Given the description of an element on the screen output the (x, y) to click on. 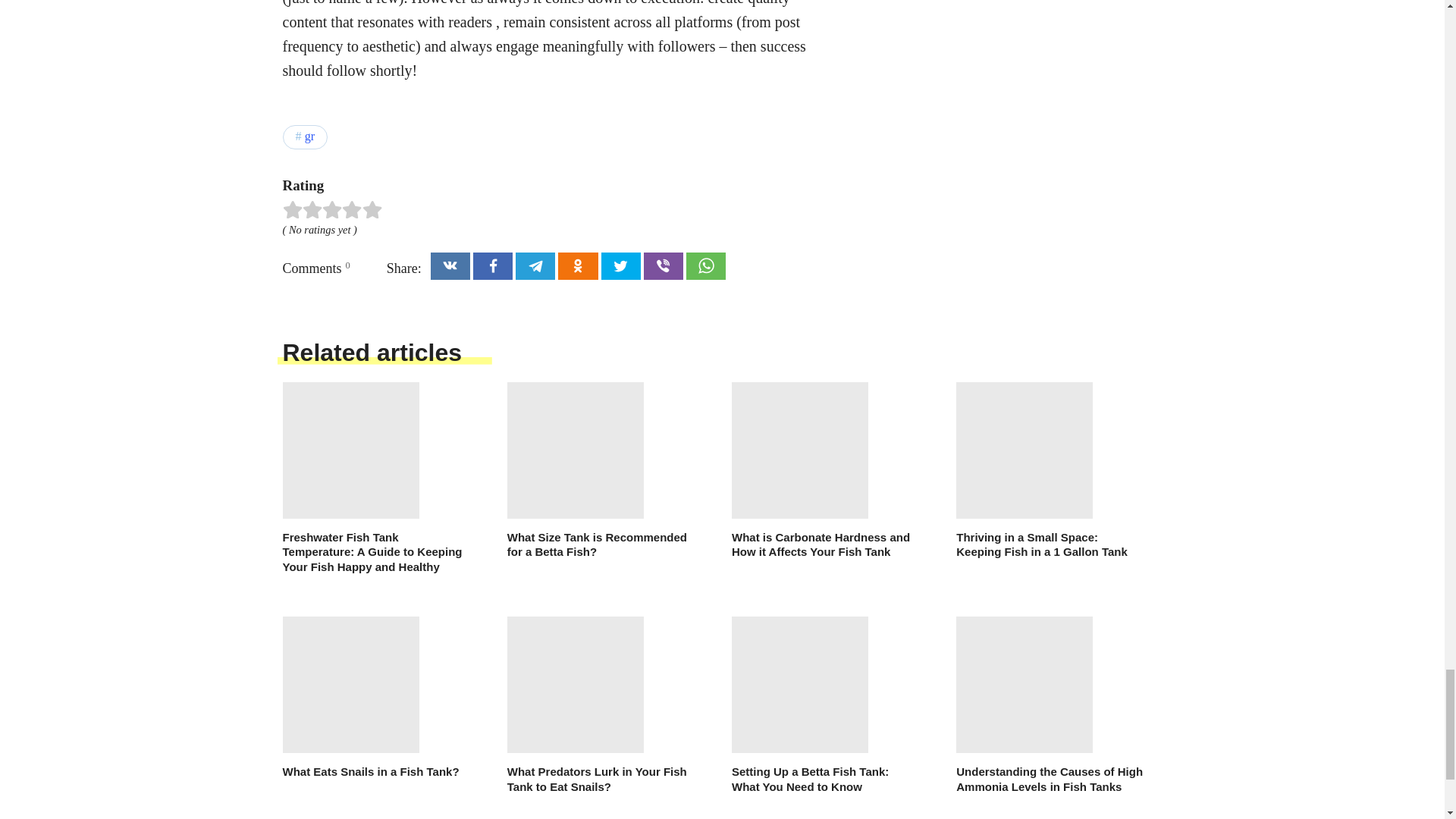
What Size Tank is Recommended for a Betta Fish? (600, 470)
What is Carbonate Hardness and How it Affects Your Fish Tank (825, 470)
Thriving in a Small Space: Keeping Fish in a 1 Gallon Tank (1049, 470)
What Eats Snails in a Fish Tank? (375, 697)
Setting Up a Betta Fish Tank: What You Need to Know (825, 704)
gr (304, 136)
What Predators Lurk in Your Fish Tank to Eat Snails? (600, 704)
